Given the description of an element on the screen output the (x, y) to click on. 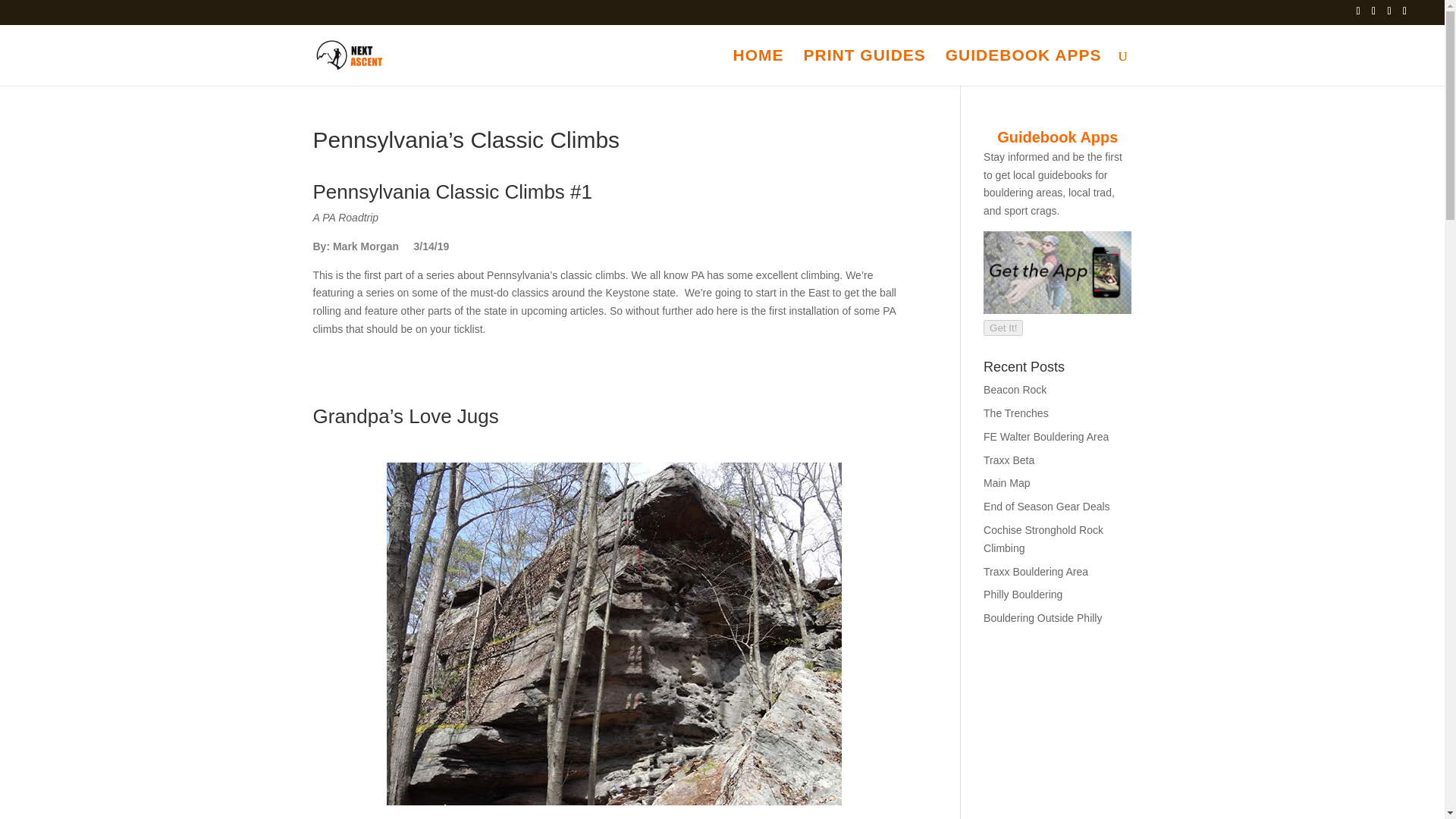
Traxx Beta (1008, 460)
PRINT GUIDES (864, 67)
Get It! (1003, 327)
GUIDEBOOK APPS (1023, 67)
Get It! (1003, 327)
HOME (758, 67)
Bouldering Outside Philly (1043, 617)
Traxx Bouldering Area (1035, 571)
FE Walter Bouldering Area (1046, 436)
Cochise Stronghold Rock Climbing (1043, 539)
The Trenches (1016, 413)
Philly Bouldering (1023, 594)
End of Season Gear Deals (1046, 506)
Beacon Rock (1015, 389)
Main Map (1006, 482)
